Given the description of an element on the screen output the (x, y) to click on. 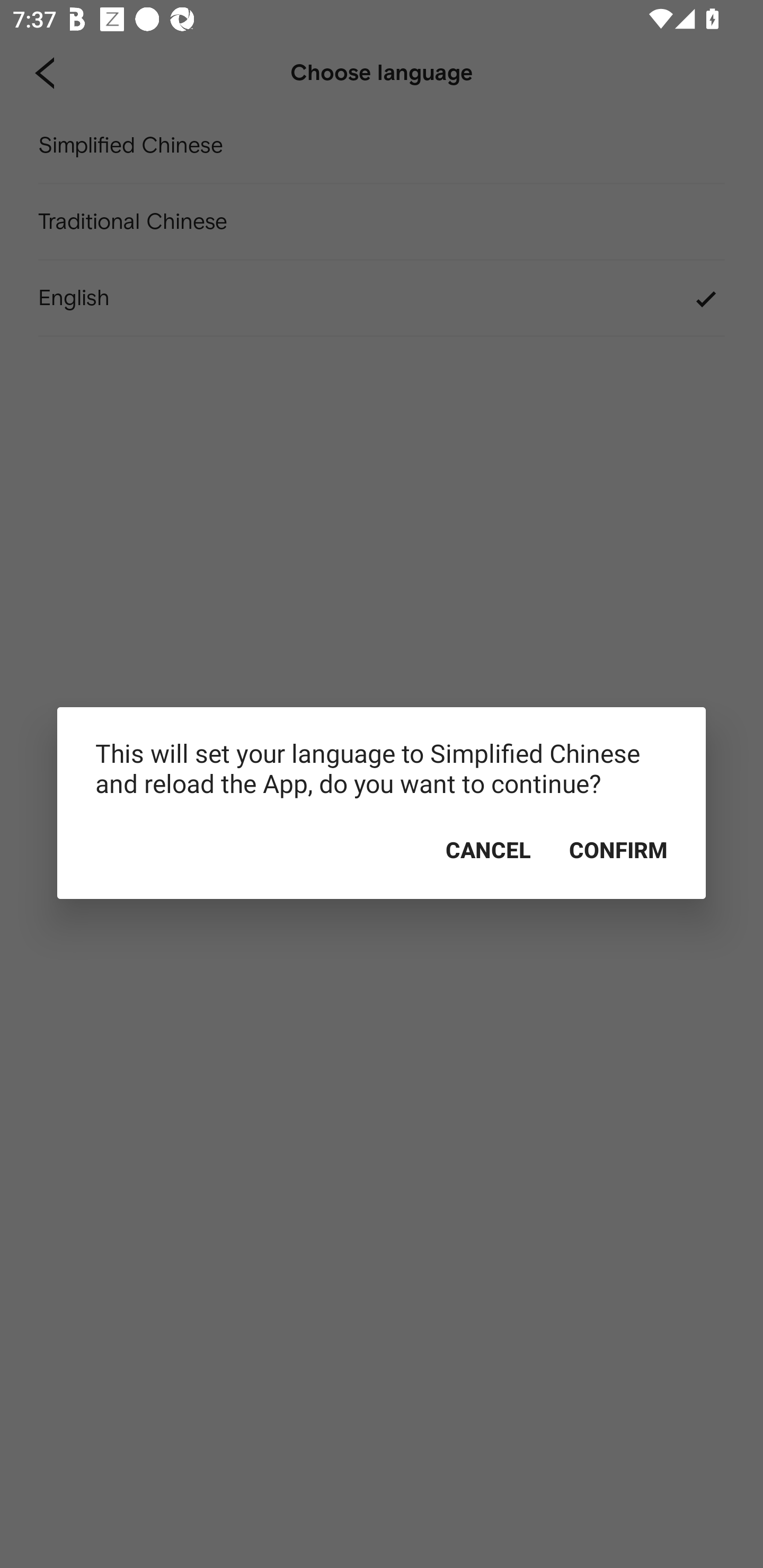
CANCEL (488, 849)
CONFIRM (618, 849)
